Given the description of an element on the screen output the (x, y) to click on. 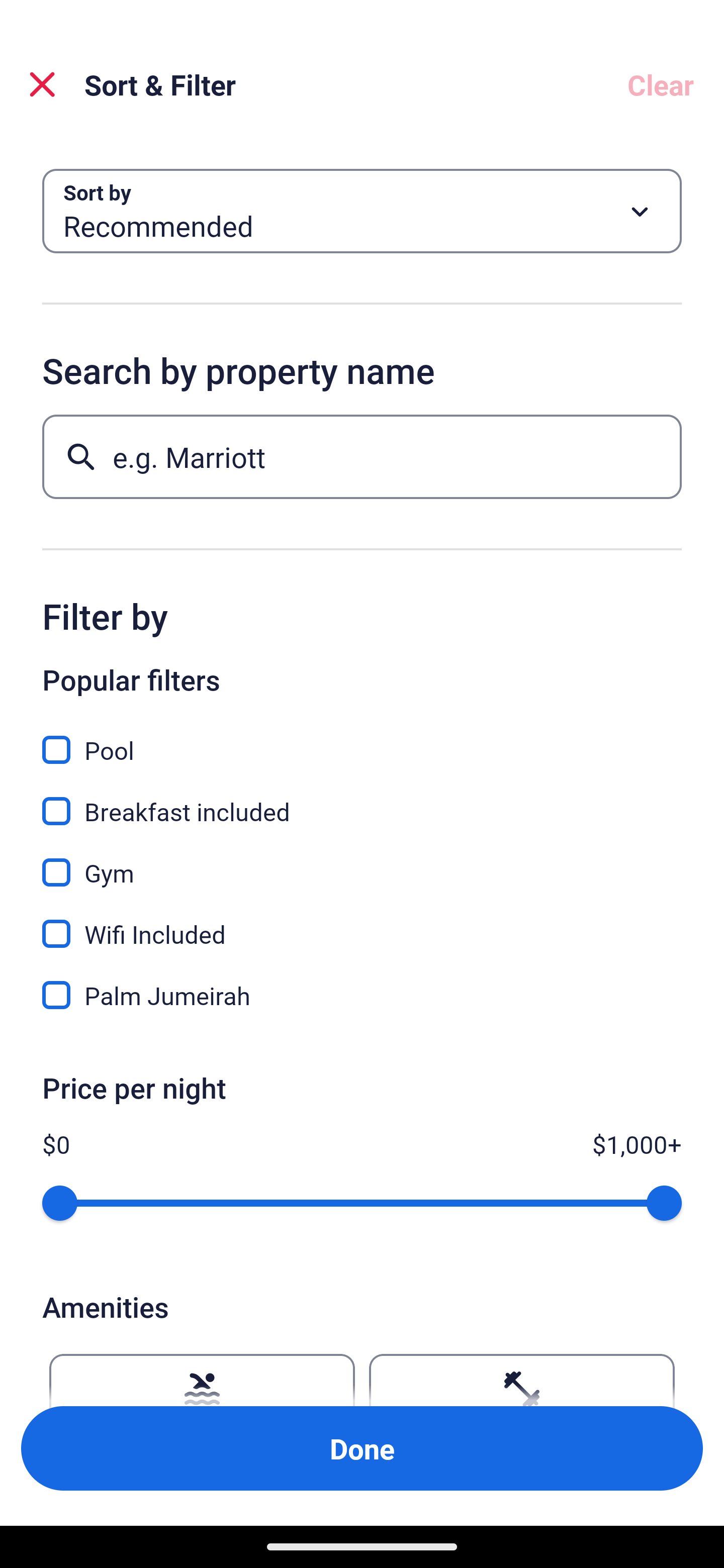
Close Sort and Filter (42, 84)
Clear (660, 84)
Sort by Button Recommended (361, 211)
e.g. Marriott Button (361, 455)
Pool, Pool (361, 738)
Breakfast included, Breakfast included (361, 800)
Gym, Gym (361, 861)
Wifi Included, Wifi Included (361, 922)
Palm Jumeirah, Palm Jumeirah (361, 995)
Apply and close Sort and Filter Done (361, 1448)
